Given the description of an element on the screen output the (x, y) to click on. 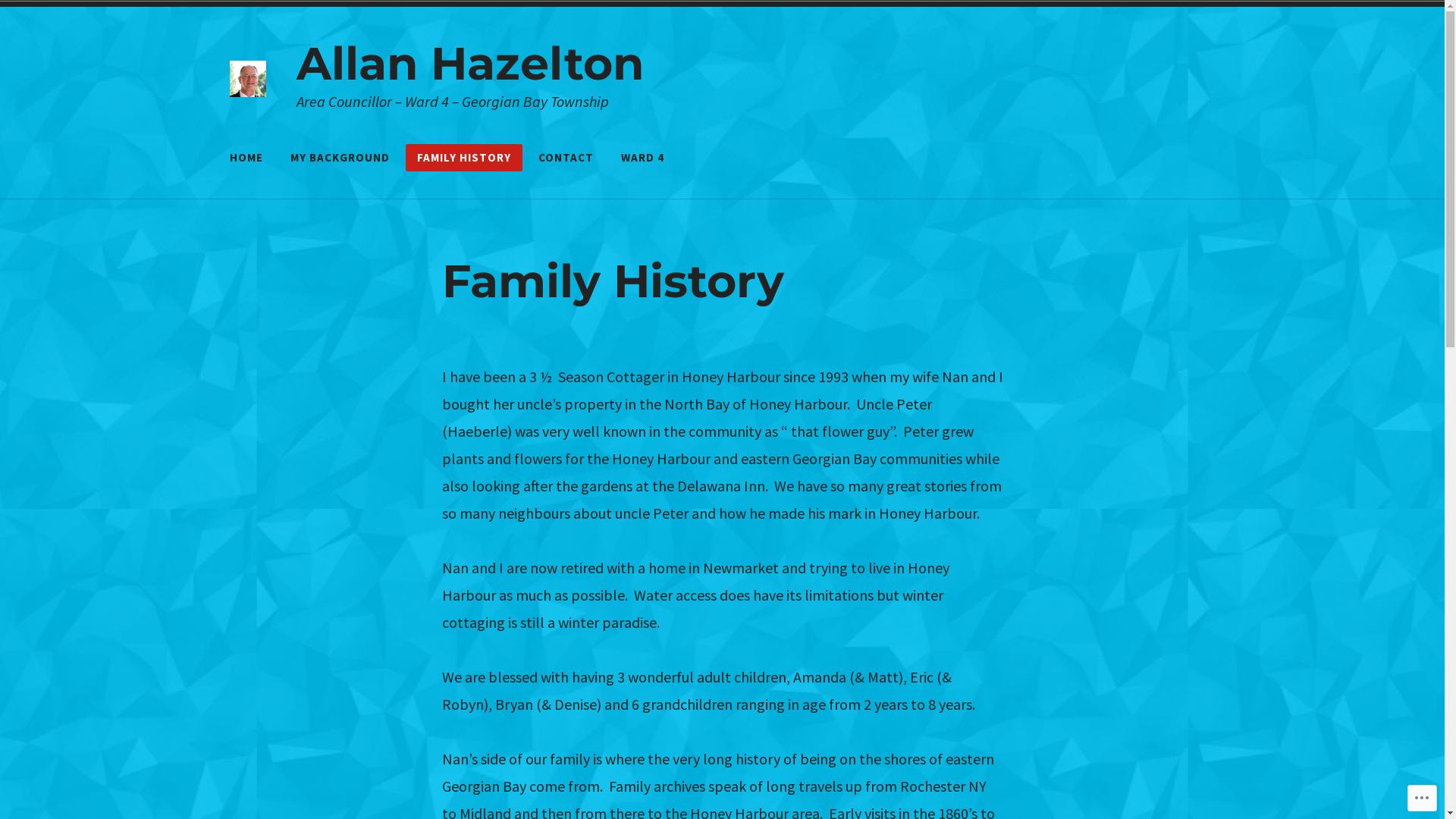
FAMILY HISTORY Element type: text (462, 157)
WARD 4 Element type: text (642, 157)
CONTACT Element type: text (565, 157)
MY BACKGROUND Element type: text (340, 157)
HOME Element type: text (246, 157)
Allan Hazelton Element type: text (469, 63)
